Given the description of an element on the screen output the (x, y) to click on. 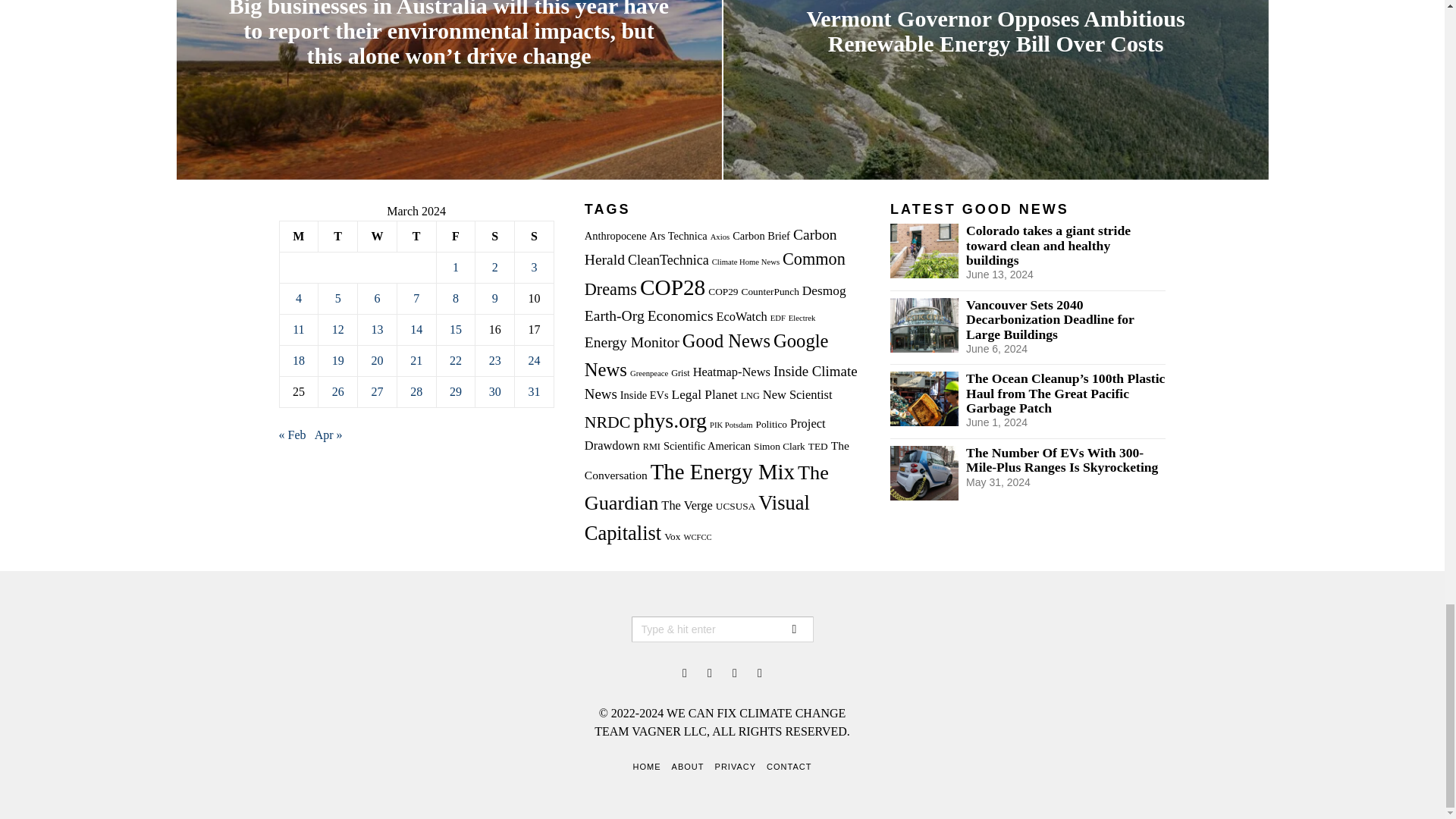
Wednesday (377, 236)
Friday (455, 236)
Saturday (495, 236)
Monday (298, 236)
Thursday (415, 236)
Tuesday (338, 236)
